Given the description of an element on the screen output the (x, y) to click on. 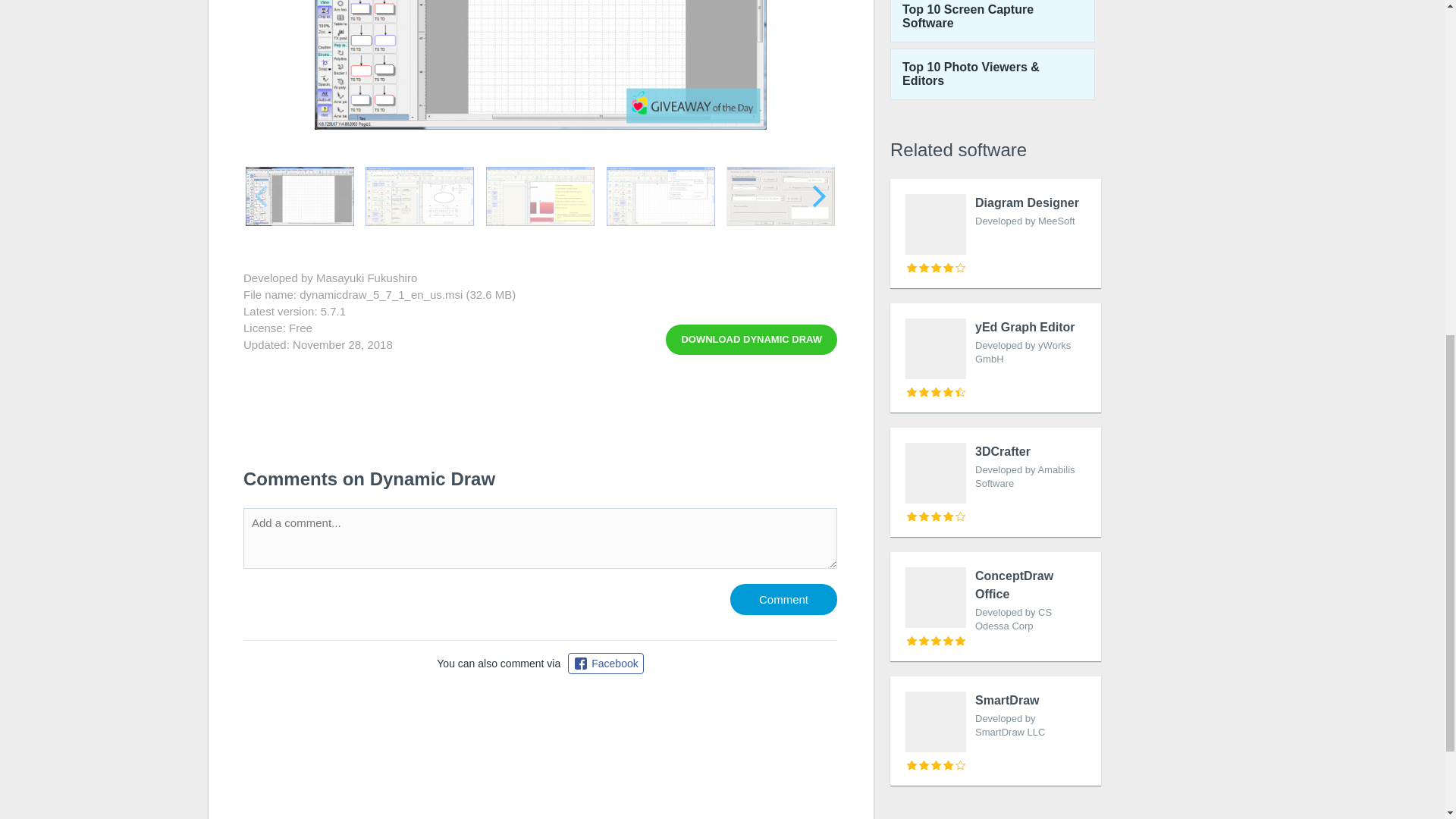
Comment (783, 599)
Top 10 Screen Capture Software (991, 21)
Comment (783, 599)
Top 10 Screen Capture Software for Windows (994, 482)
Download Dynamic Draw 5.7.1 for free (994, 357)
DOWNLOAD DYNAMIC DRAW (994, 730)
